Given the description of an element on the screen output the (x, y) to click on. 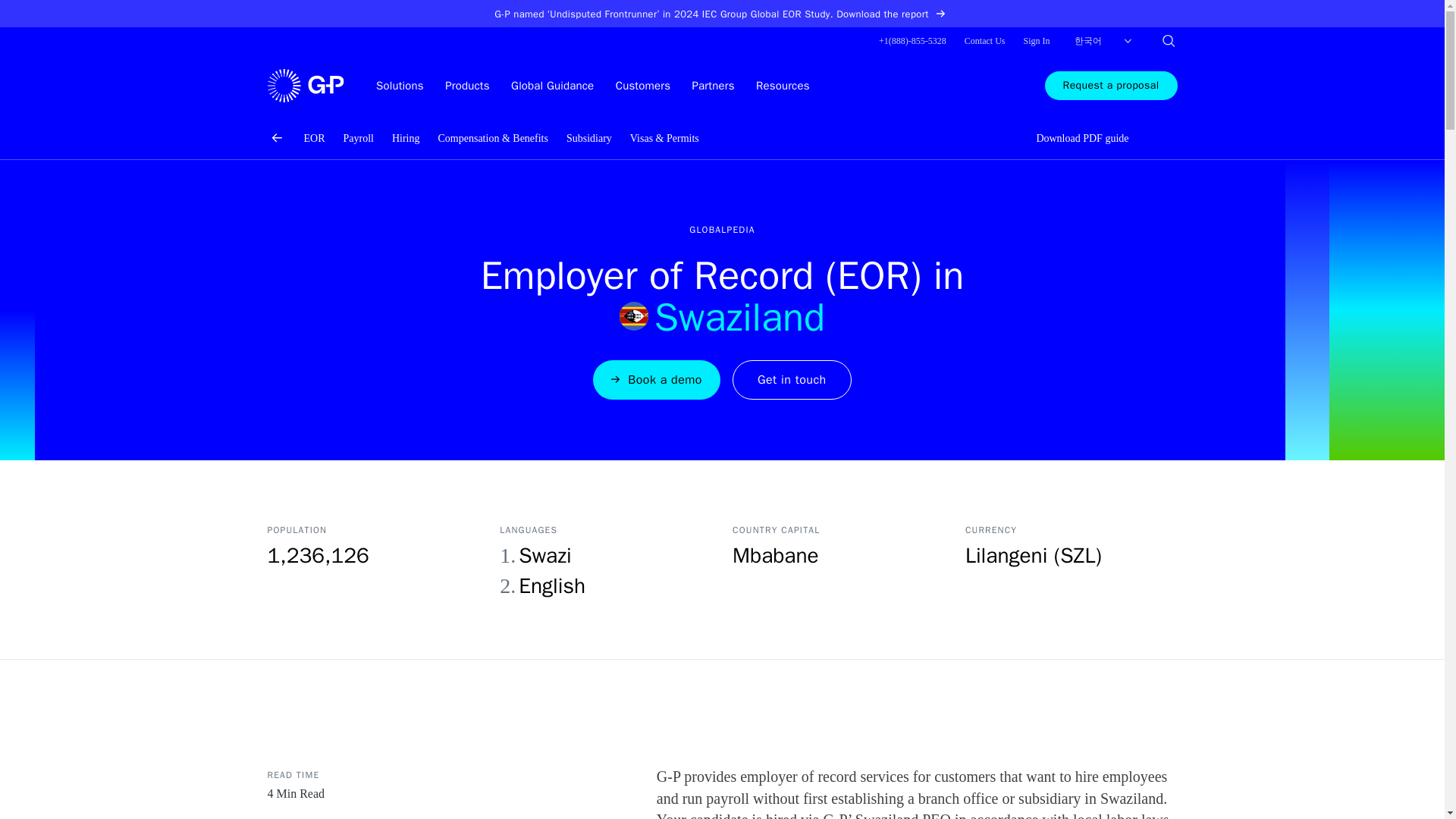
EOR (313, 138)
Products (467, 85)
Sign In (1036, 40)
Download PDF guide (1072, 138)
Book a demo (656, 379)
Get in touch (791, 379)
Contact Us (984, 40)
Solutions (399, 85)
Hiring (405, 138)
Resources (782, 85)
Request a proposal (1111, 85)
Subsidiary (588, 138)
Payroll (357, 138)
Global Guidance (552, 85)
Partners (714, 85)
